Given the description of an element on the screen output the (x, y) to click on. 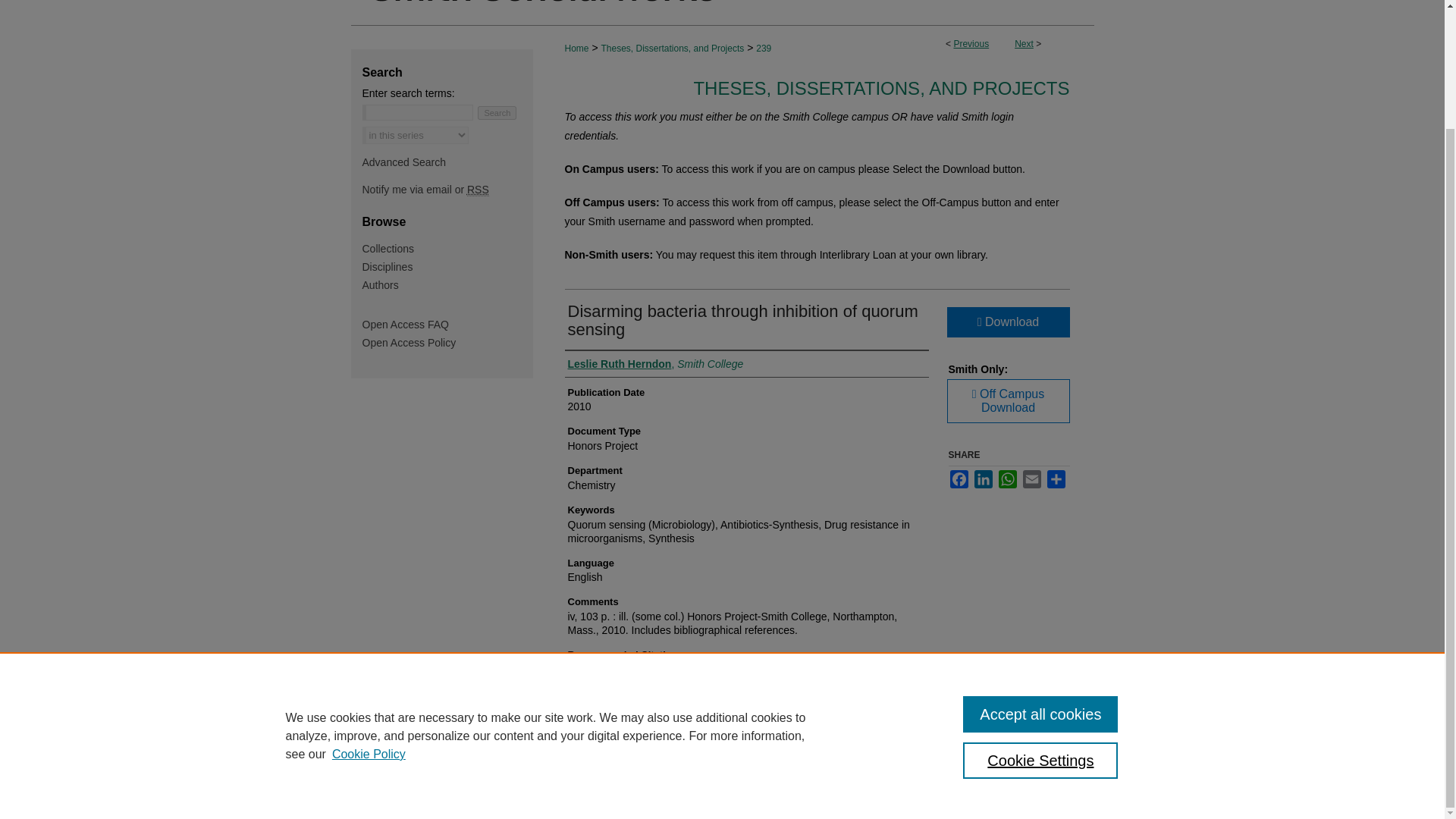
Collections (447, 248)
Open Access Policy (447, 342)
THESES, DISSERTATIONS, AND PROJECTS (880, 87)
Off Campus Download (1007, 401)
Home (576, 48)
Share (1055, 479)
Smith ScholarWorks (721, 13)
Search (496, 112)
Advanced Search (404, 162)
Email (1031, 479)
Authors (447, 285)
239 (763, 48)
Disciplines (447, 266)
Search (496, 112)
Off Campus Download (1007, 401)
